Given the description of an element on the screen output the (x, y) to click on. 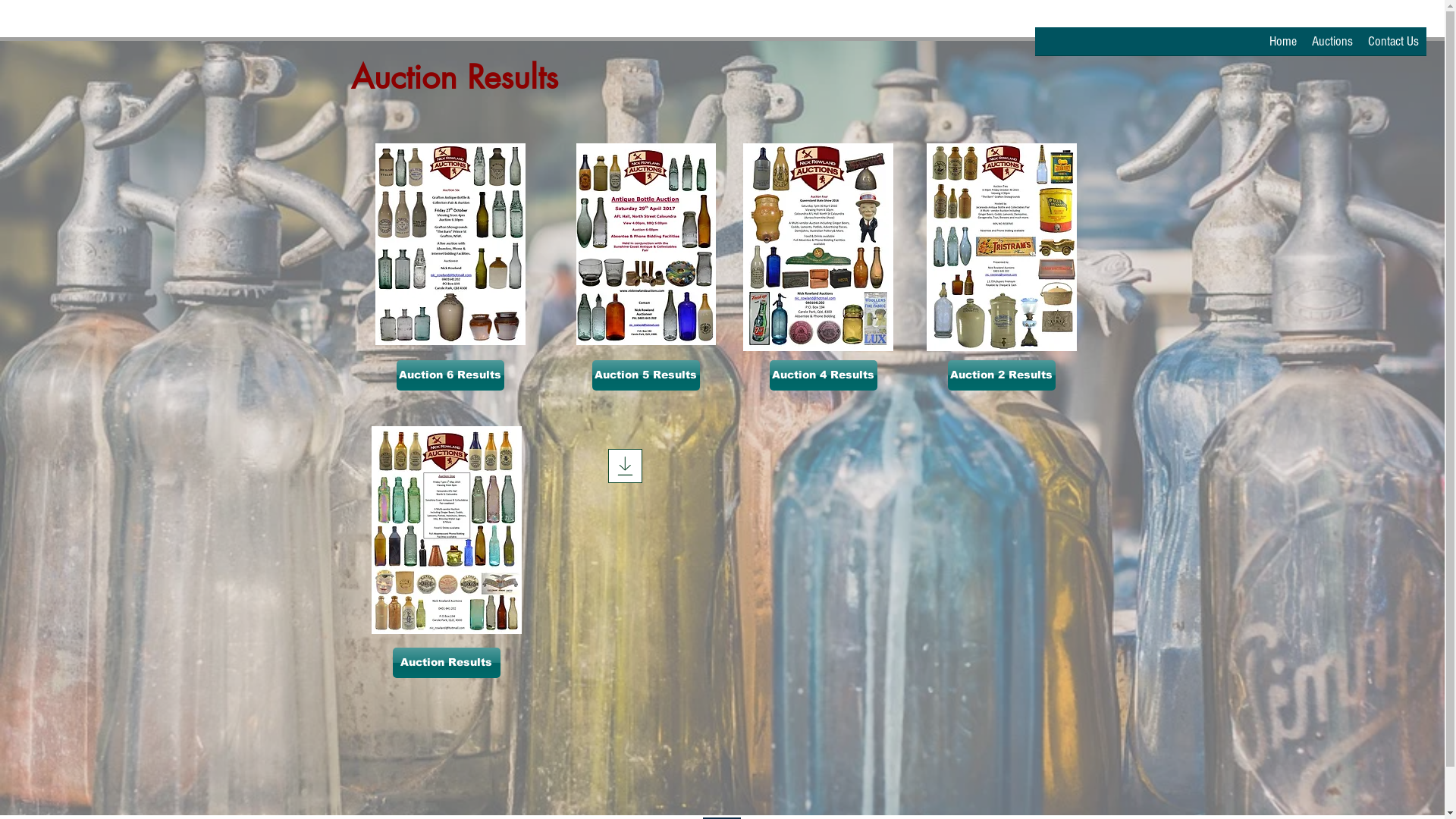
Auction 2 Results Element type: text (1001, 375)
Auction 6 Results Element type: text (449, 375)
Auctions Element type: text (1332, 46)
Auction 5 Results Element type: text (645, 375)
Auction 4 Results Element type: text (822, 375)
Contact Us Element type: text (1393, 46)
Home Element type: text (1282, 46)
Auction Results Element type: text (446, 662)
